Given the description of an element on the screen output the (x, y) to click on. 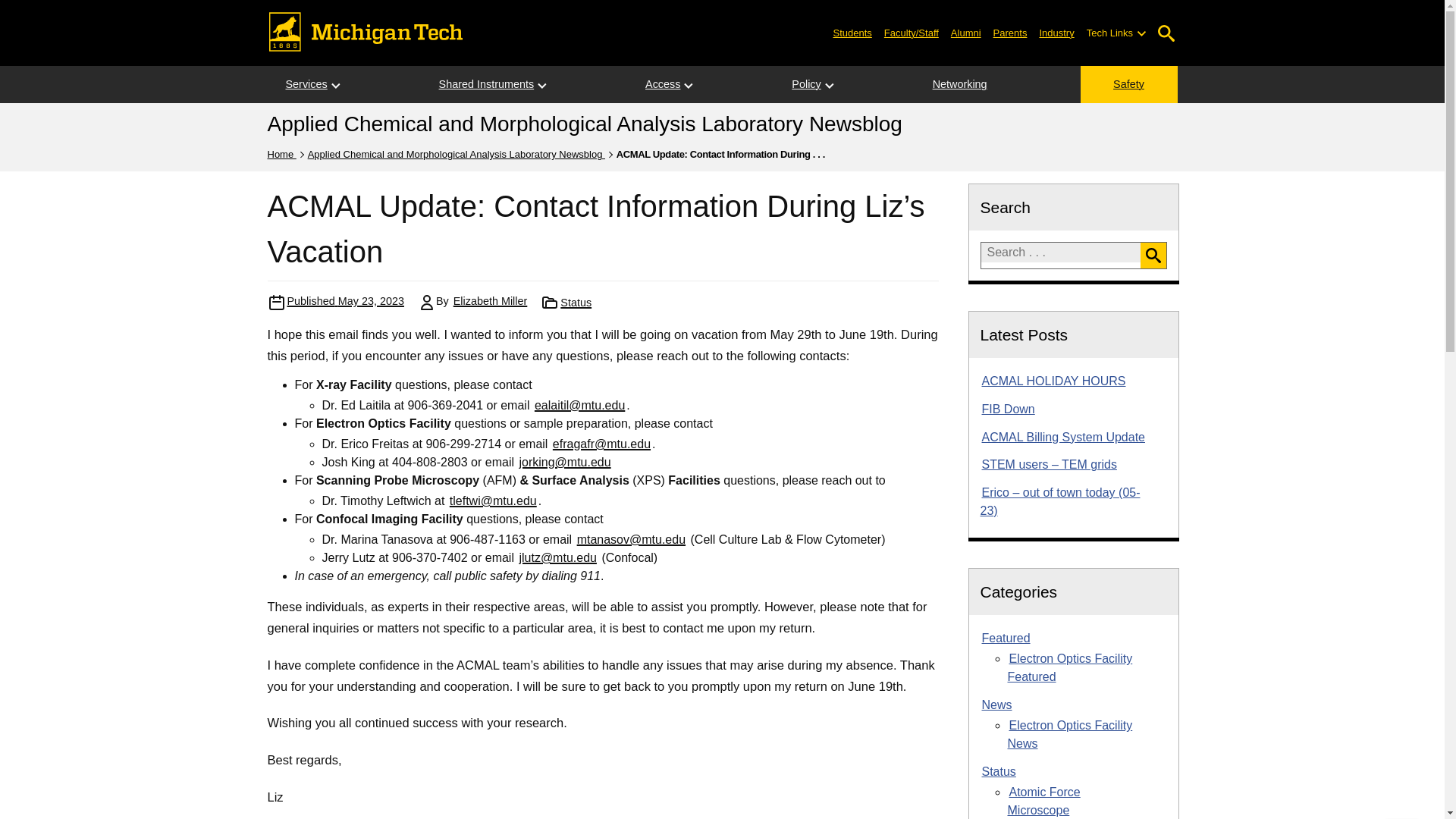
Alumni (965, 32)
Access (662, 84)
Students (852, 32)
Industry (1056, 32)
Open Search (1166, 33)
Services (305, 84)
Parents (1010, 32)
Shared Instruments (486, 84)
